Given the description of an element on the screen output the (x, y) to click on. 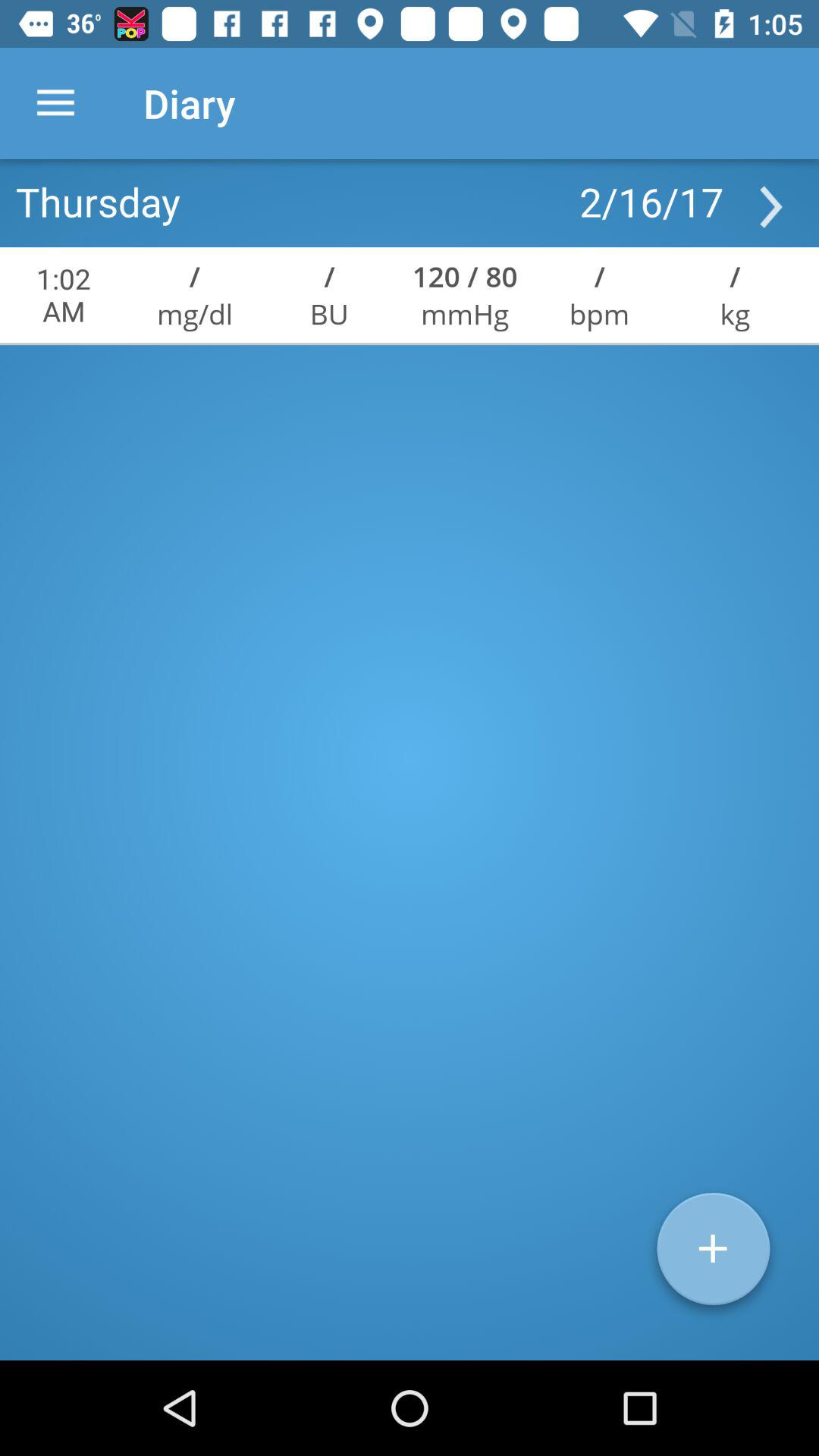
swipe until 2/16/17 (651, 201)
